Given the description of an element on the screen output the (x, y) to click on. 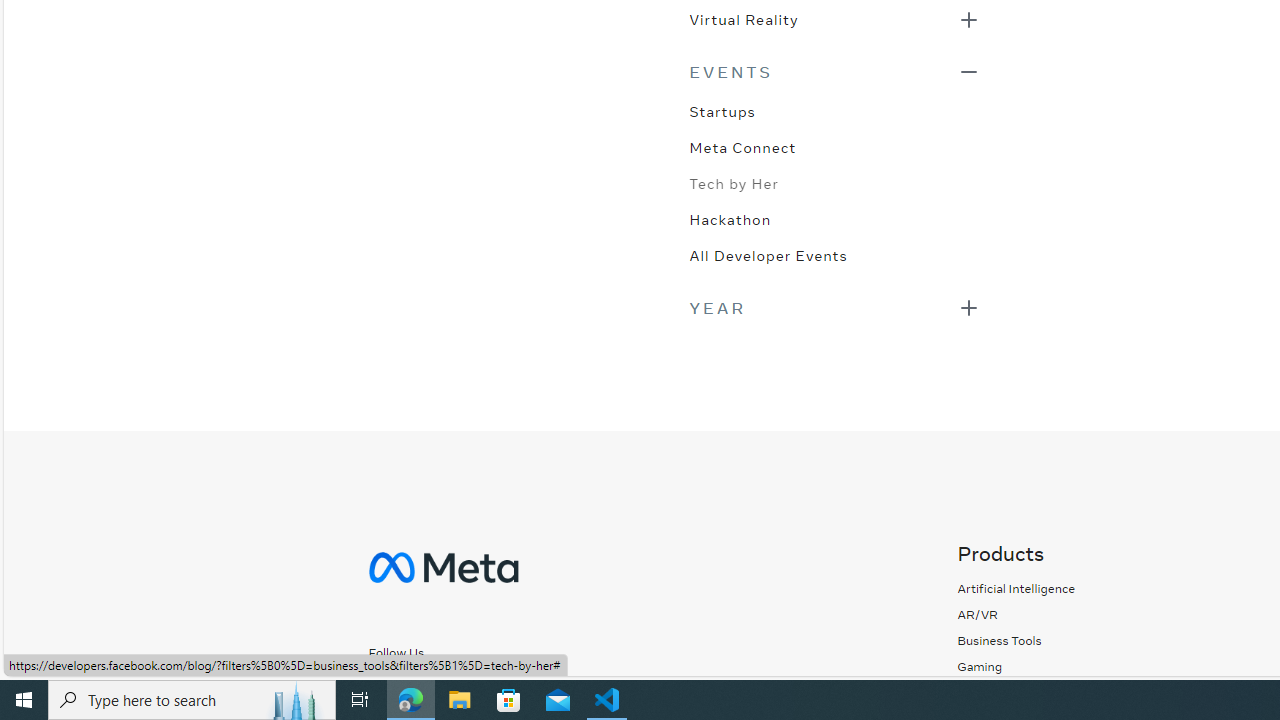
Follow us on Twitter (468, 687)
Follow us on Instagram (434, 688)
Artificial Intelligence (1016, 588)
Meta Connect (742, 145)
Follow us on Instagram (424, 687)
Hackathon (729, 217)
All Developer Events (767, 253)
Follow us on Facebook (380, 687)
Class: _9890 _98ey (834, 71)
Tech by Her (733, 181)
Follow us on Twitter (477, 688)
Virtual Reality (743, 17)
Gaming (980, 665)
AR/VR (1016, 614)
Follow us on Facebook (390, 688)
